Given the description of an element on the screen output the (x, y) to click on. 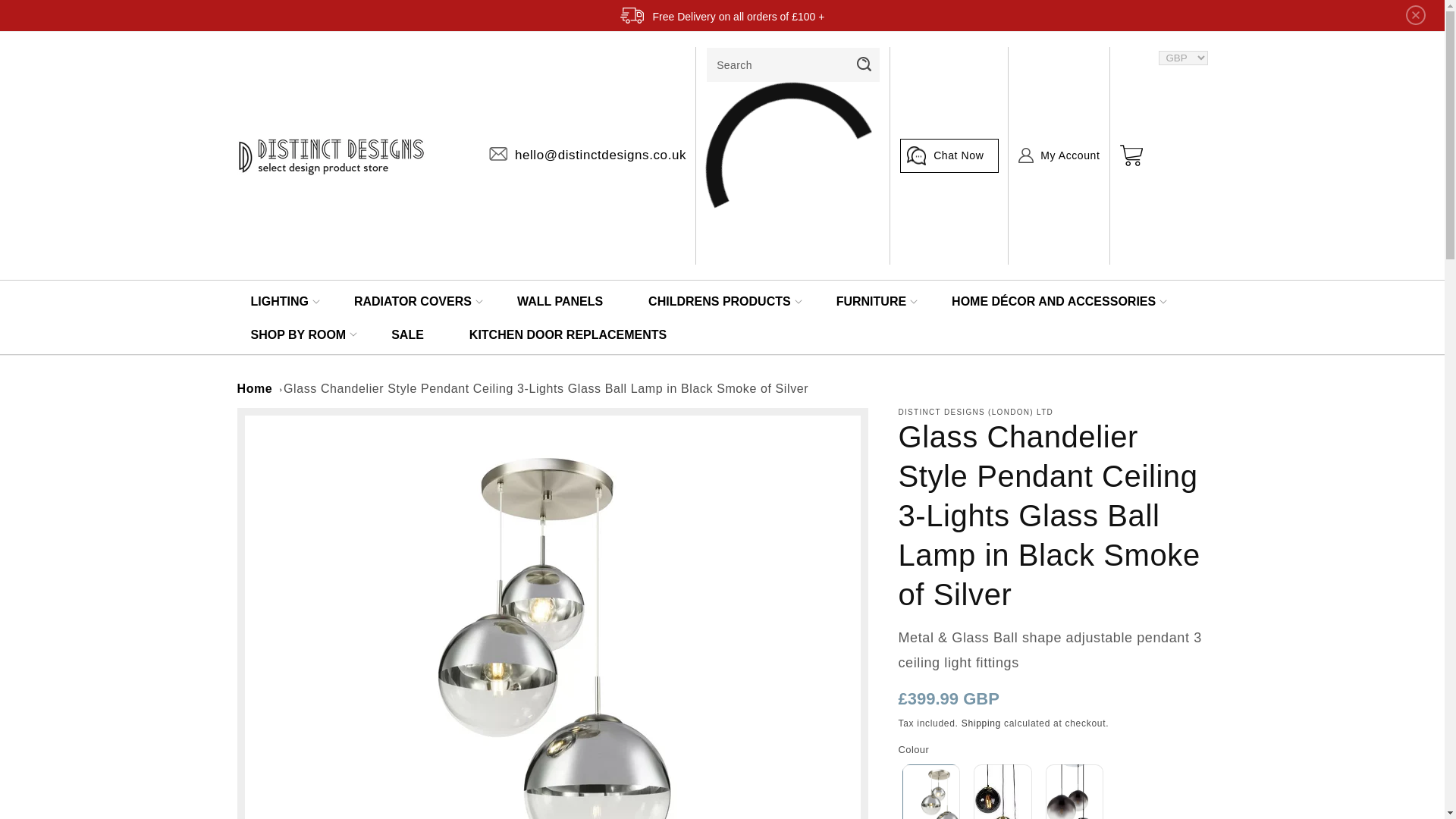
Skip to content (45, 17)
